Given the description of an element on the screen output the (x, y) to click on. 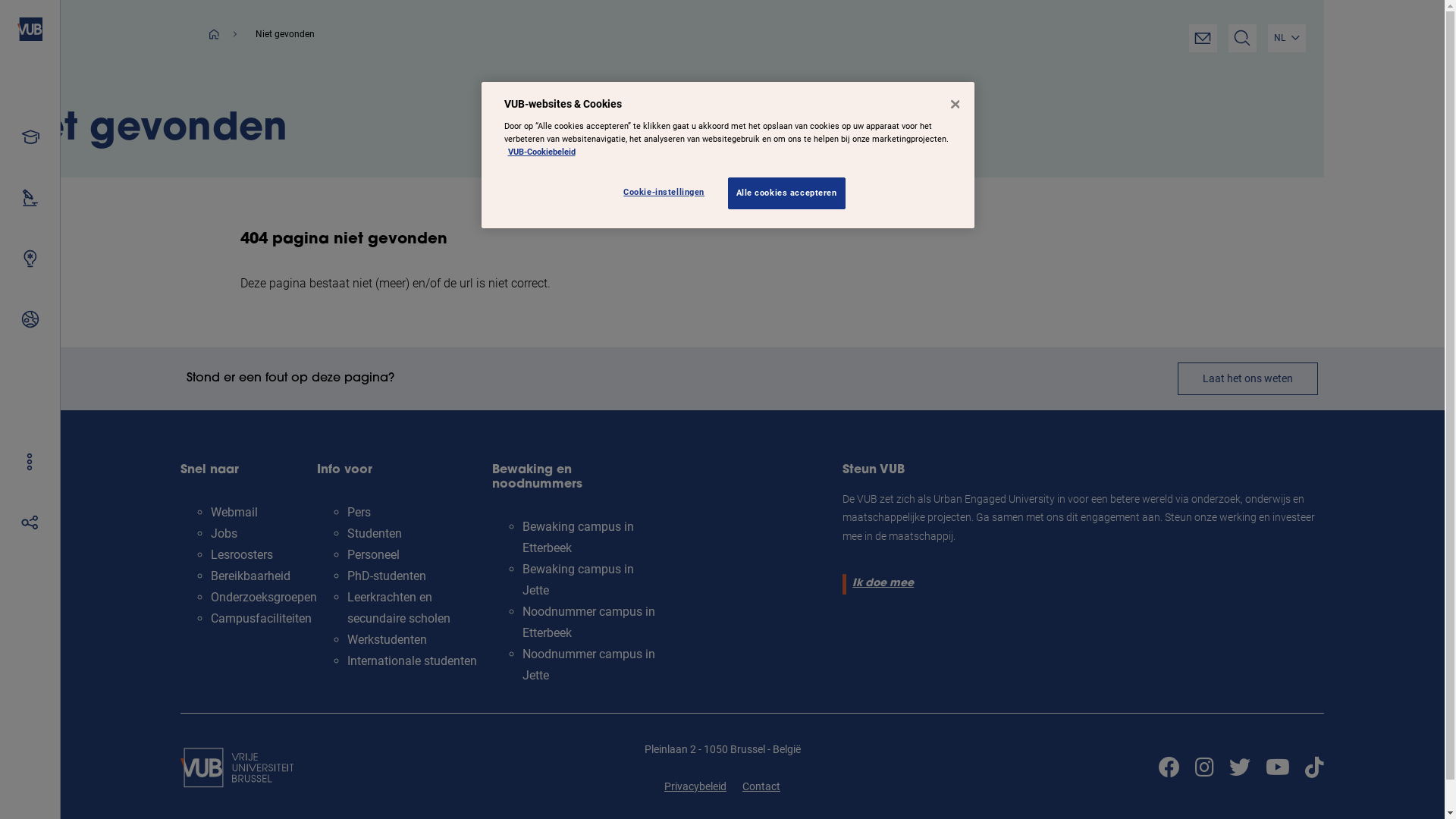
Jobs Element type: text (223, 533)
PhD-studenten Element type: text (386, 575)
Privacybeleid Element type: text (695, 786)
Open de tiktok pagina van VUB Element type: hover (1314, 767)
Internationale studenten Element type: text (411, 660)
Overslaan en naar de inhoud gaan Element type: text (0, 0)
Bewaking campus in Etterbeek Element type: text (577, 537)
Open de facebook pagina van VUB Element type: hover (1168, 767)
Laat het ons weten Element type: text (1247, 378)
Alle cookies accepteren Element type: text (786, 193)
Noodnummer campus in Jette Element type: text (588, 664)
Lesroosters Element type: text (241, 554)
Studenten Element type: text (374, 533)
Bewaking campus in Jette Element type: text (577, 579)
Open de youtube pagina van VUB Element type: hover (1277, 767)
Campusfaciliteiten Element type: text (260, 618)
Vrije Universiteit Brussel Element type: hover (29, 28)
Werkstudenten Element type: text (386, 639)
Webmail Element type: text (233, 512)
Cookie-instellingen Element type: text (667, 192)
Open de instagram pagina van VUB Element type: hover (1204, 767)
Leerkrachten en secundaire scholen Element type: text (398, 607)
Personeel Element type: text (373, 554)
Open de twitter pagina van VUB Element type: hover (1239, 767)
Ik doe mee Element type: text (880, 584)
Bereikbaarheid Element type: text (250, 575)
VUB-Cookiebeleid Element type: text (541, 151)
Onderzoeksgroepen Element type: text (263, 596)
Contact Element type: text (761, 786)
Noodnummer campus in Etterbeek Element type: text (588, 622)
Pers Element type: text (358, 512)
